Given the description of an element on the screen output the (x, y) to click on. 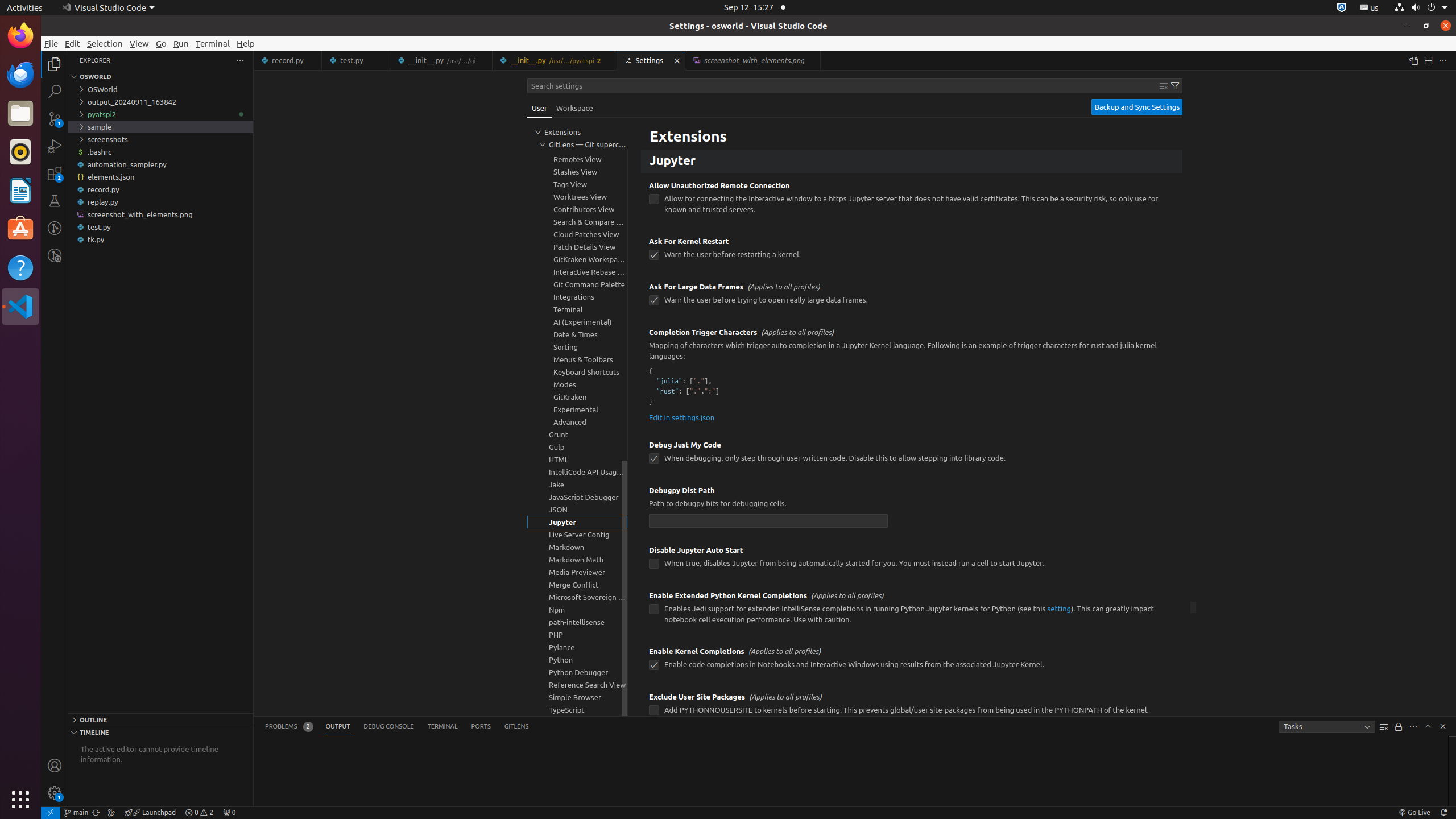
Python Debugger, group Element type: tree-item (577, 672)
Remotes View, group Element type: tree-item (577, 158)
Integrations, group Element type: tree-item (577, 296)
output_20240911_163842 Element type: tree-item (160, 101)
automation_sampler.py Element type: tree-item (160, 164)
